Given the description of an element on the screen output the (x, y) to click on. 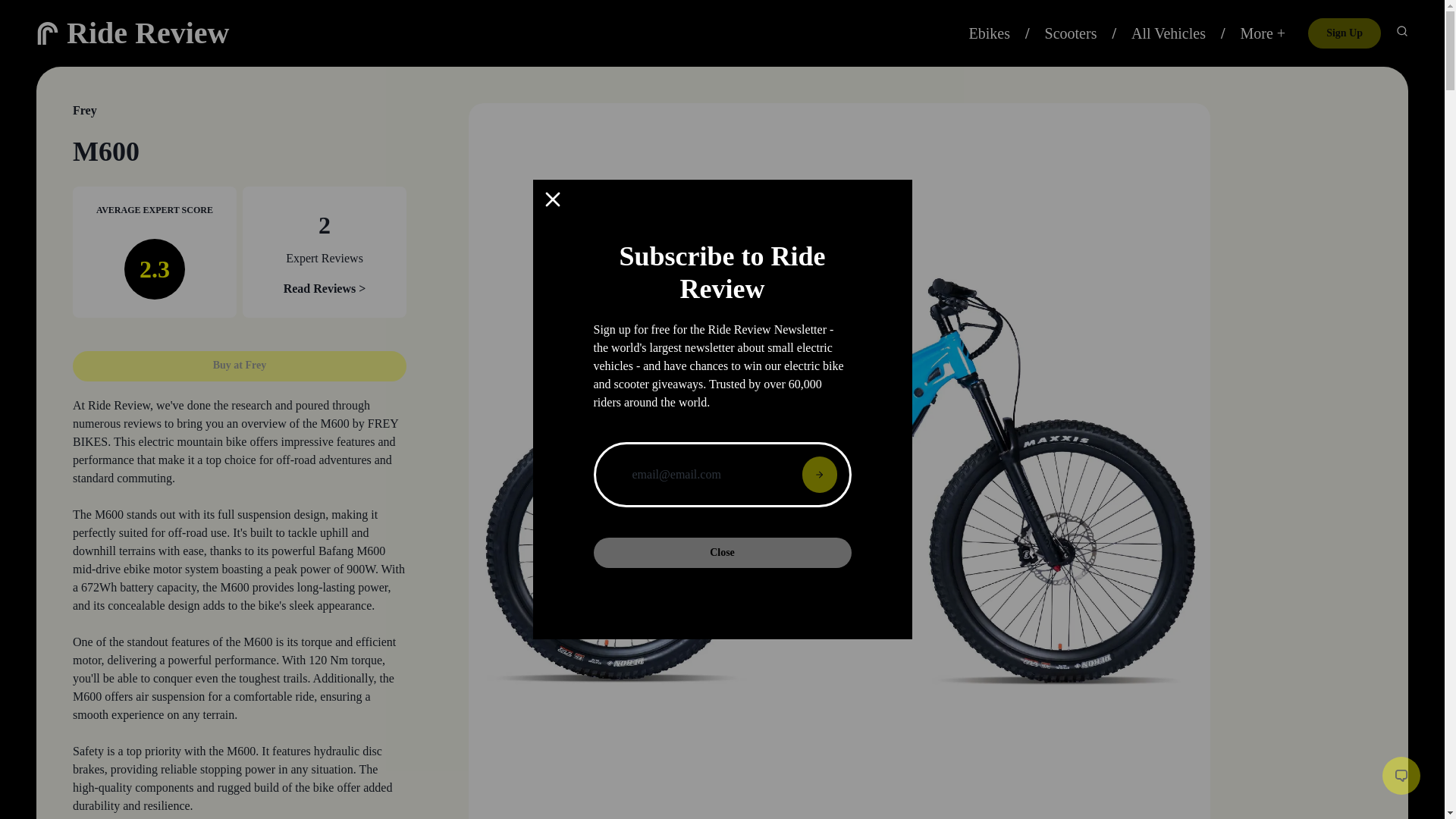
Buy at Frey (239, 356)
All Vehicles (1168, 33)
Sign Up (1343, 33)
Buy at Frey (239, 366)
Scooters (1071, 33)
Ride Review (147, 32)
Frey (84, 110)
Ebikes (989, 33)
